Given the description of an element on the screen output the (x, y) to click on. 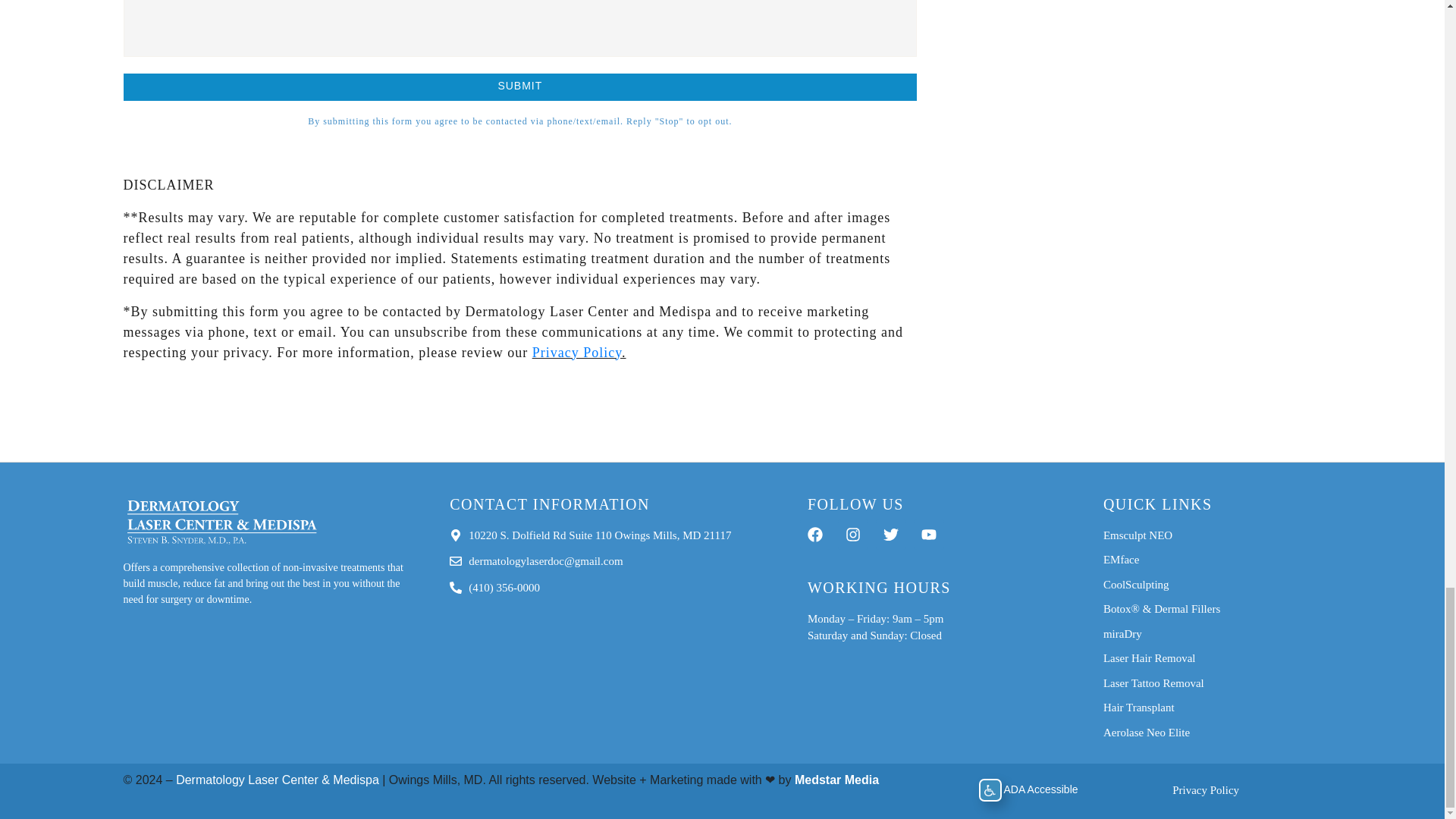
Submit (519, 86)
